Given the description of an element on the screen output the (x, y) to click on. 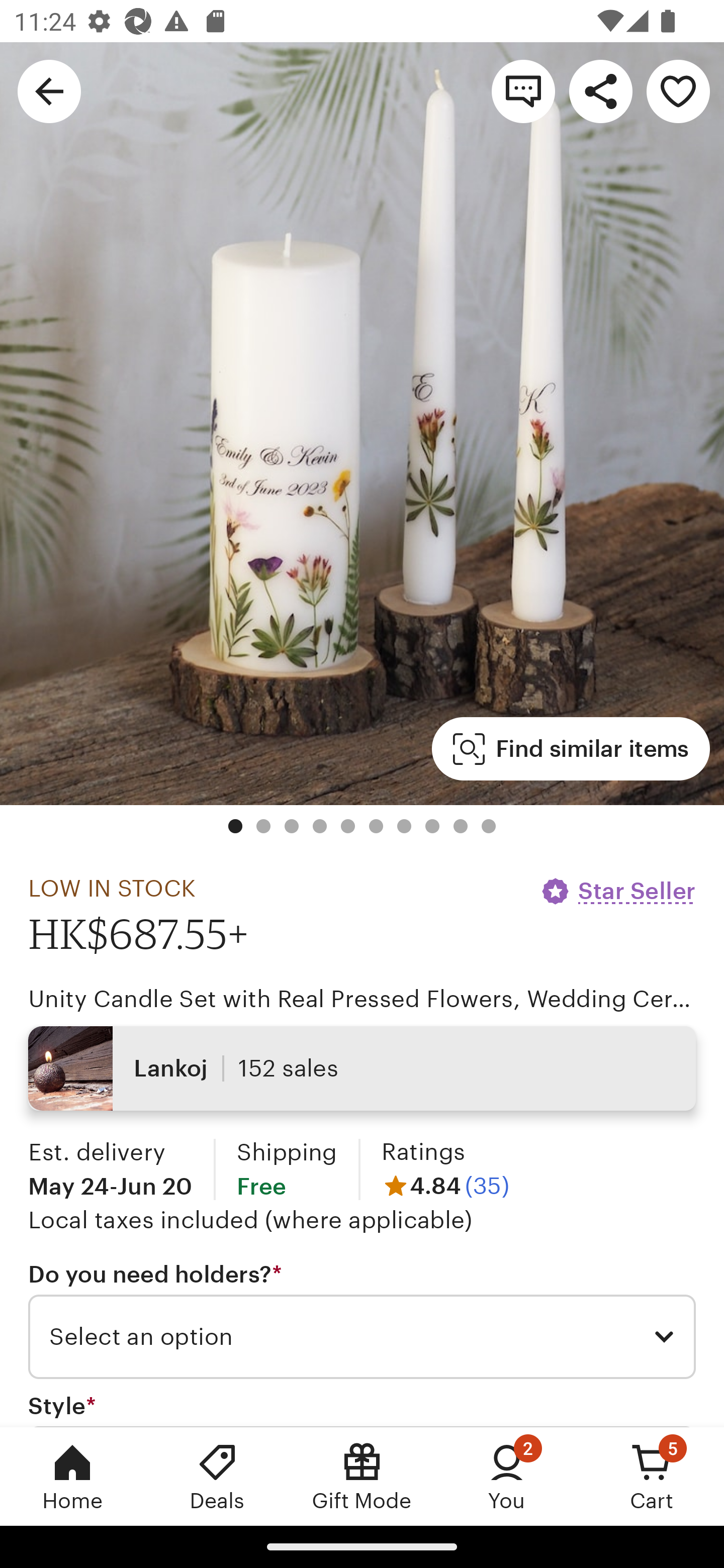
Navigate up (49, 90)
Contact shop (523, 90)
Share (600, 90)
Find similar items (571, 748)
Star Seller (617, 890)
Lankoj 152 sales (361, 1067)
Ratings (423, 1151)
4.84 (35) (444, 1185)
Do you need holders? * Required Select an option (361, 1319)
Select an option (361, 1336)
Style * Required Select an option (361, 1409)
Deals (216, 1475)
Gift Mode (361, 1475)
You, 2 new notifications You (506, 1475)
Cart, 5 new notifications Cart (651, 1475)
